Given the description of an element on the screen output the (x, y) to click on. 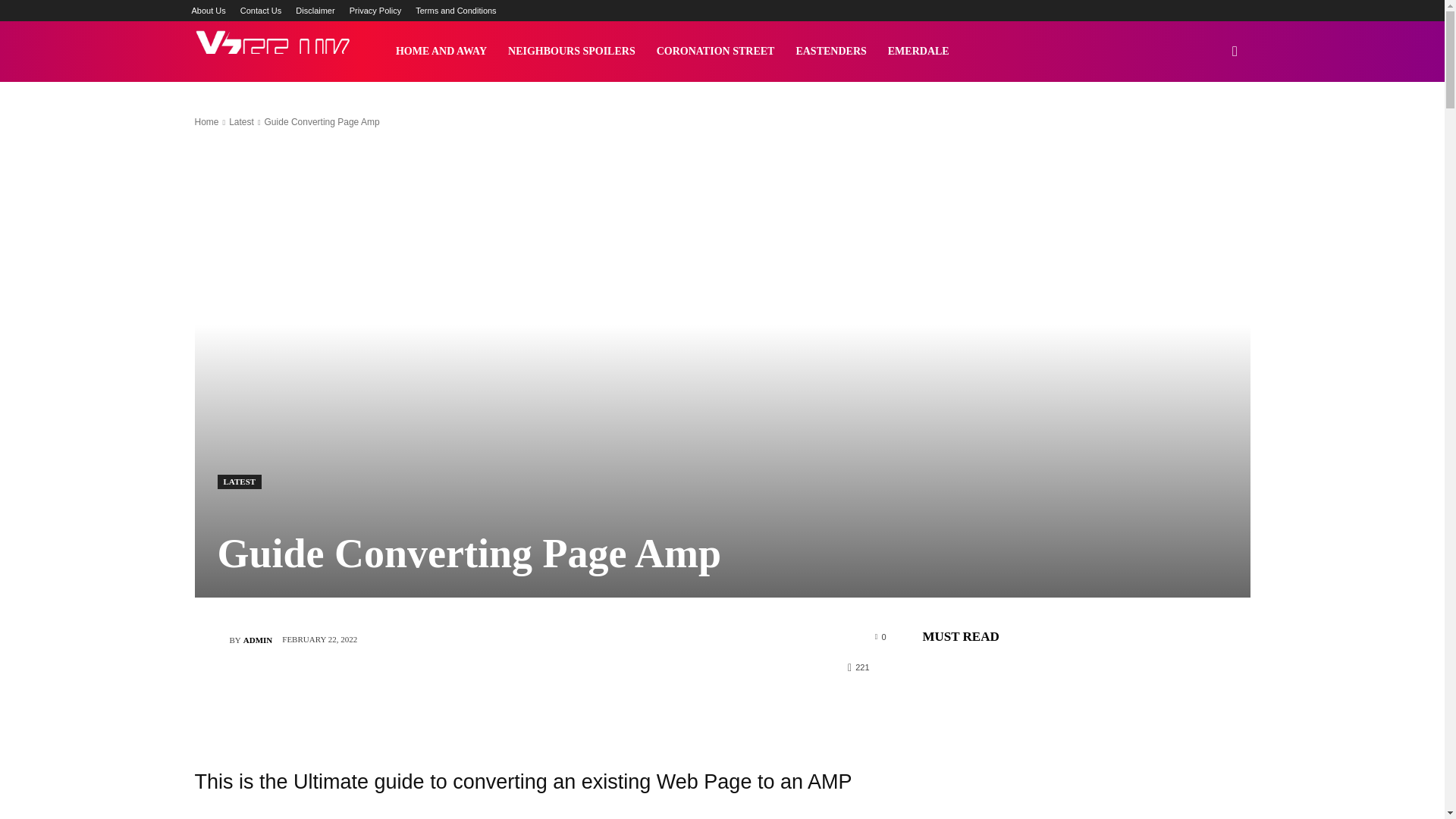
0 (880, 635)
Terms and Conditions (455, 10)
EASTENDERS (830, 51)
Latest (240, 122)
Disclaimer (314, 10)
About Us (207, 10)
Privacy Policy (375, 10)
EMERDALE (918, 51)
LATEST (239, 481)
HOME AND AWAY (441, 51)
